Given the description of an element on the screen output the (x, y) to click on. 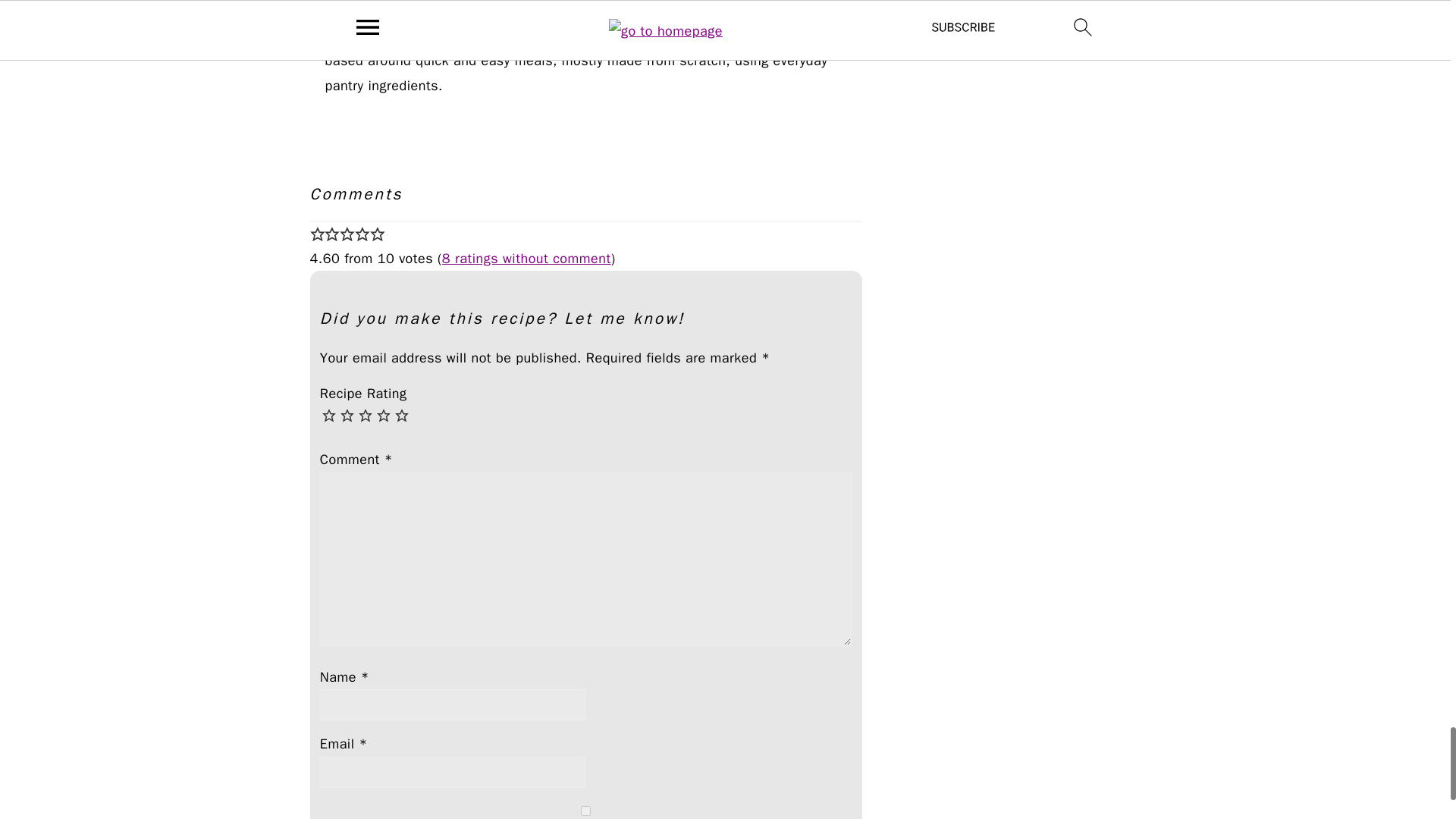
yes (585, 810)
